Given the description of an element on the screen output the (x, y) to click on. 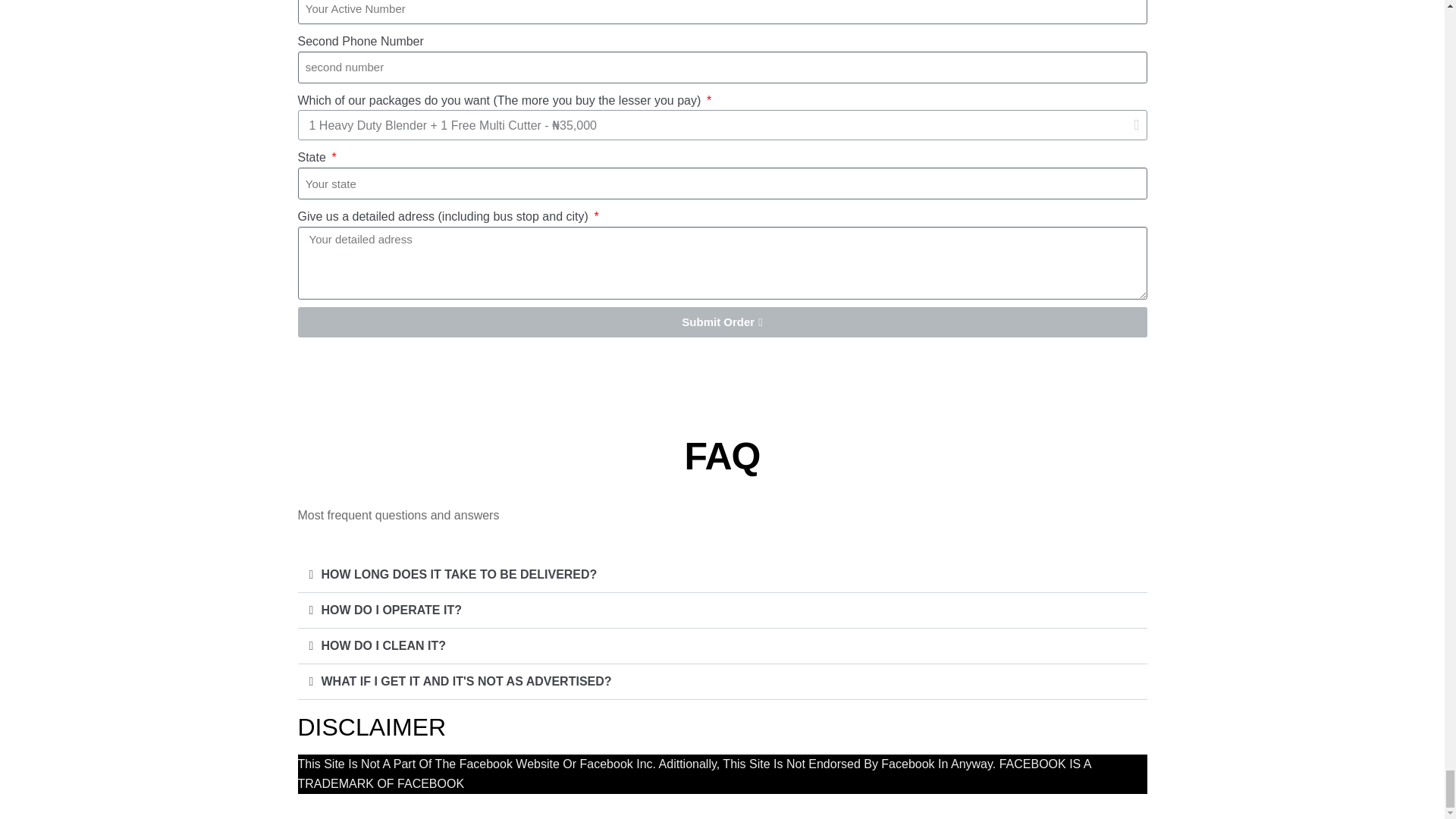
HOW DO I OPERATE IT? (391, 609)
WHAT IF I GET IT AND IT'S NOT AS ADVERTISED? (466, 680)
HOW LONG DOES IT TAKE TO BE DELIVERED? (458, 574)
Submit Order (722, 322)
HOW DO I CLEAN IT? (383, 645)
